Given the description of an element on the screen output the (x, y) to click on. 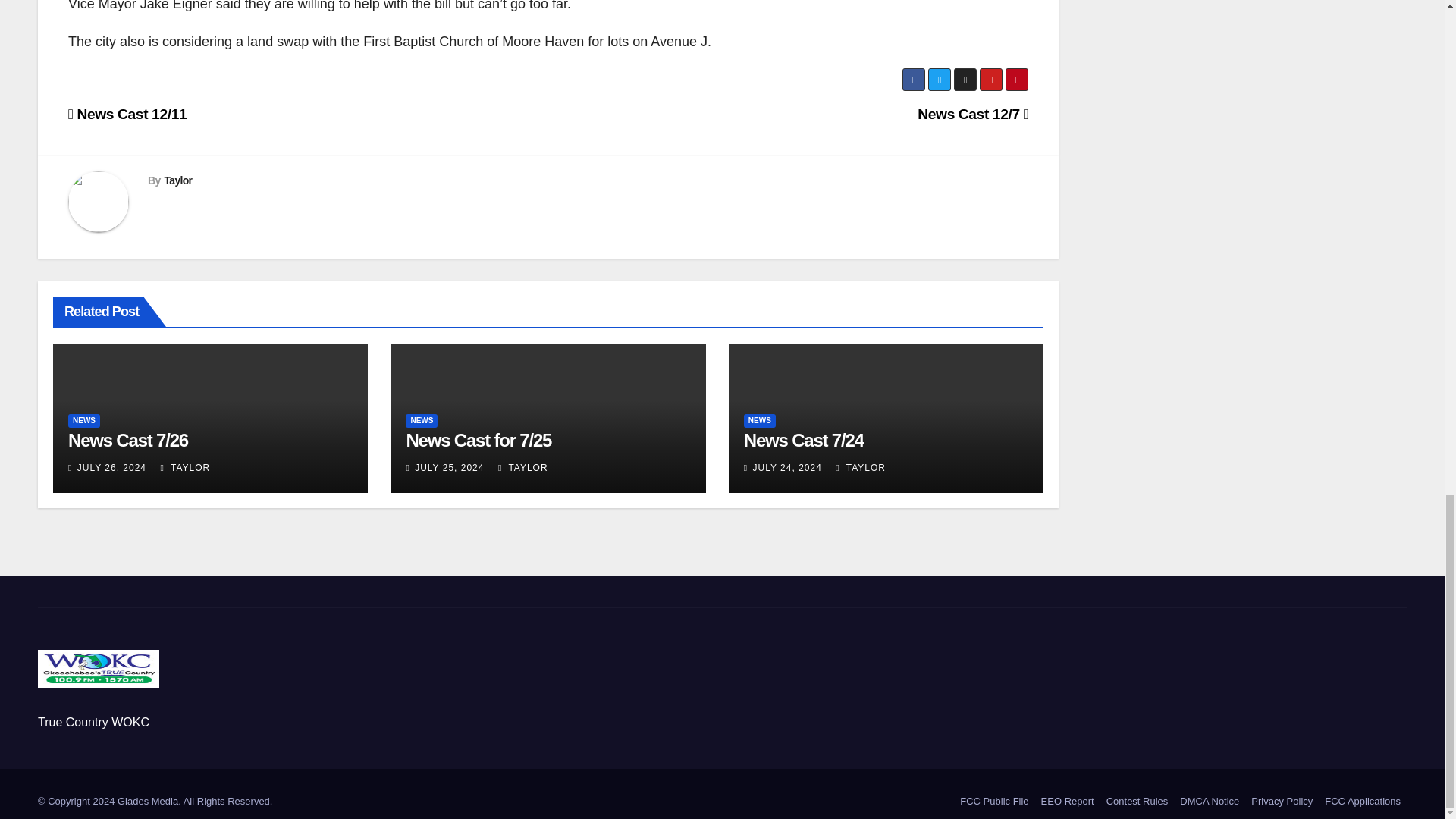
Taylor (177, 180)
TAYLOR (184, 467)
NEWS (760, 420)
JULY 25, 2024 (448, 467)
JULY 24, 2024 (787, 467)
FCC Public File (993, 800)
TAYLOR (860, 467)
NEWS (84, 420)
Contest Rules (1137, 800)
TAYLOR (522, 467)
EEO Report (1067, 800)
JULY 26, 2024 (112, 467)
NEWS (422, 420)
